Given the description of an element on the screen output the (x, y) to click on. 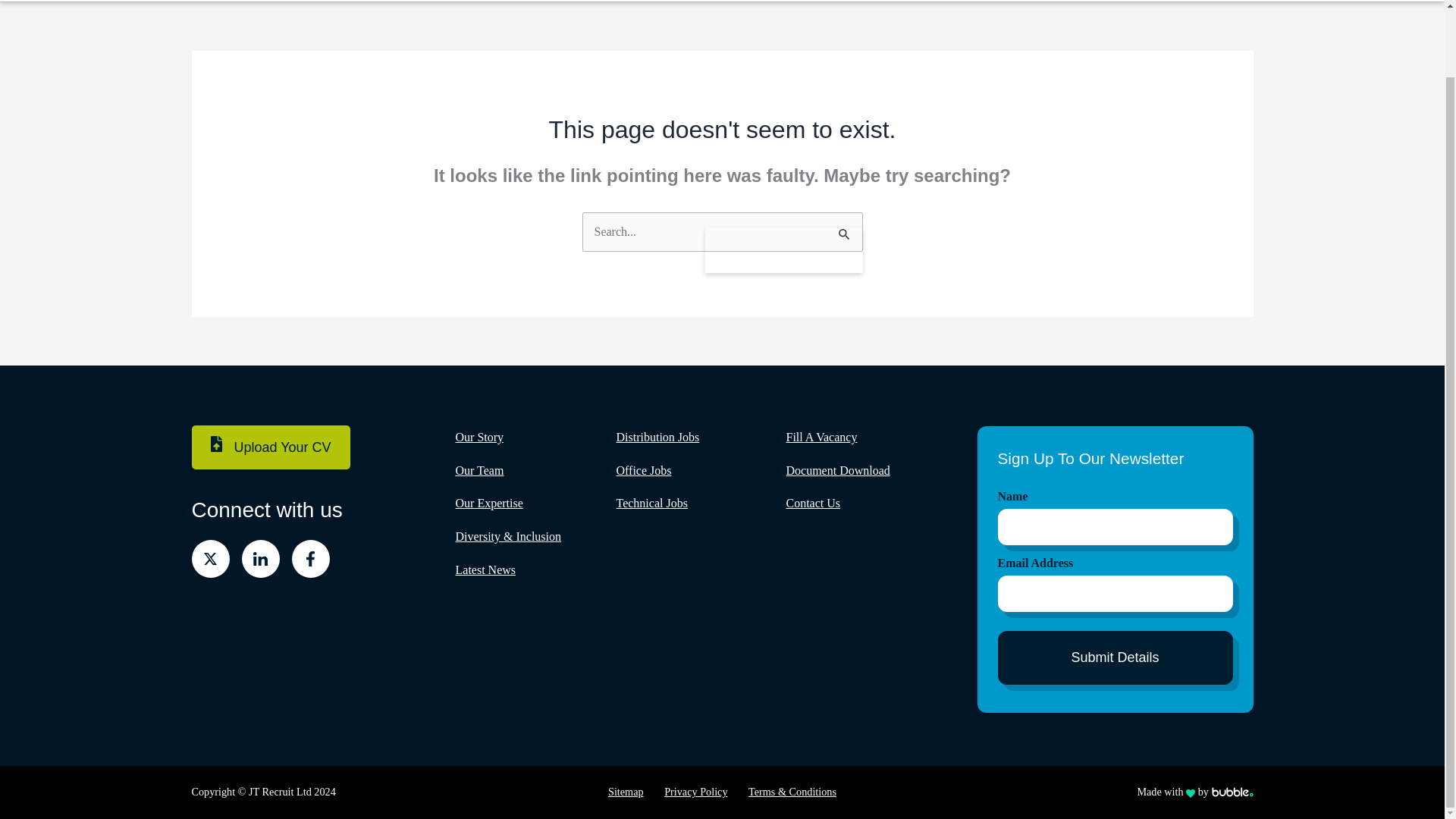
Fill A Vacancy (603, 0)
About Us (698, 0)
Submit Details (1115, 657)
Name (1115, 496)
Search (783, 249)
Our Expertise (504, 0)
Contact (870, 0)
Email Address (1115, 563)
Latest News (790, 0)
Vacancies (405, 0)
